Given the description of an element on the screen output the (x, y) to click on. 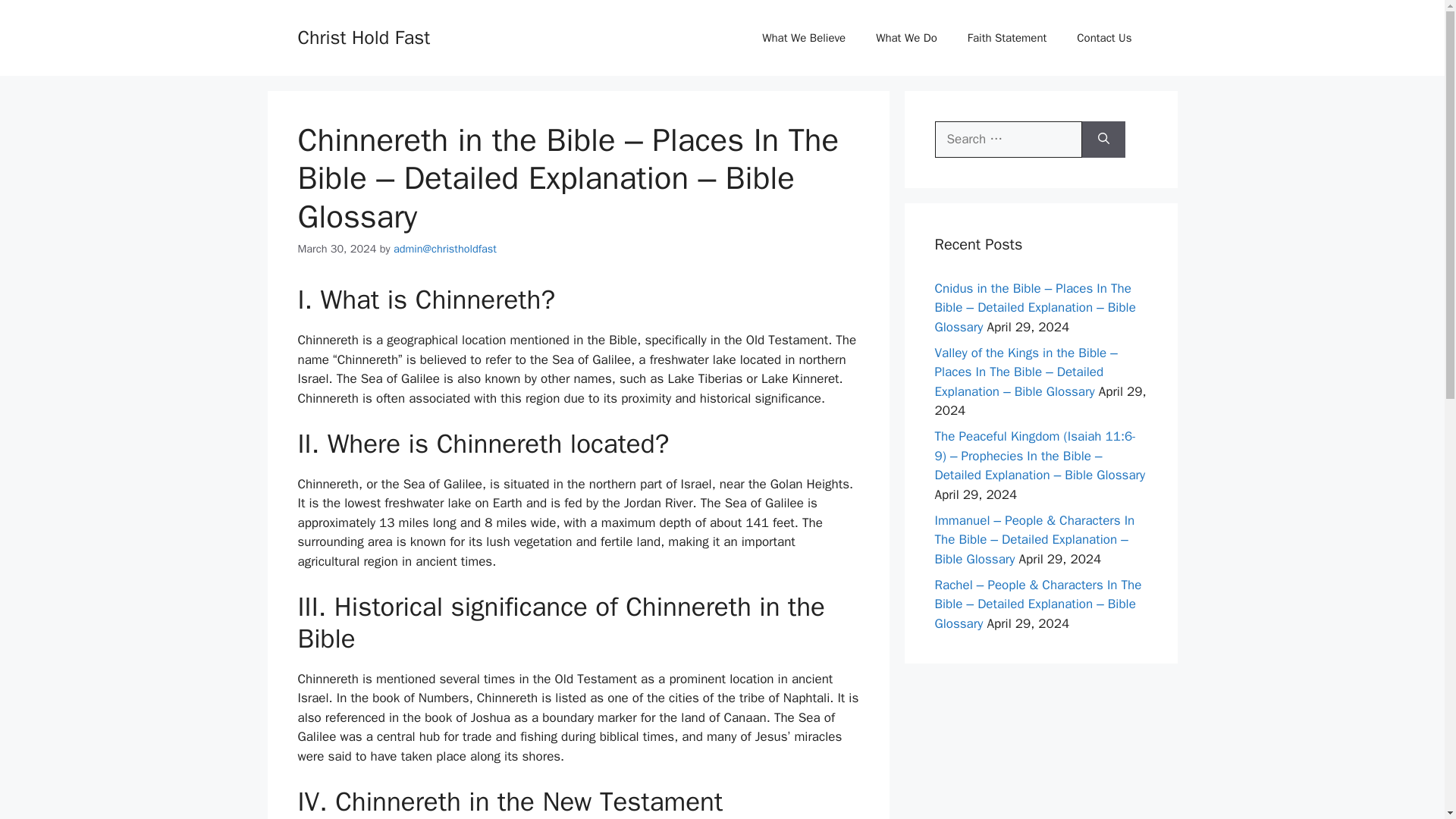
Christ Hold Fast (363, 37)
Faith Statement (1007, 37)
Contact Us (1104, 37)
What We Believe (803, 37)
Search for: (1007, 139)
What We Do (906, 37)
